Given the description of an element on the screen output the (x, y) to click on. 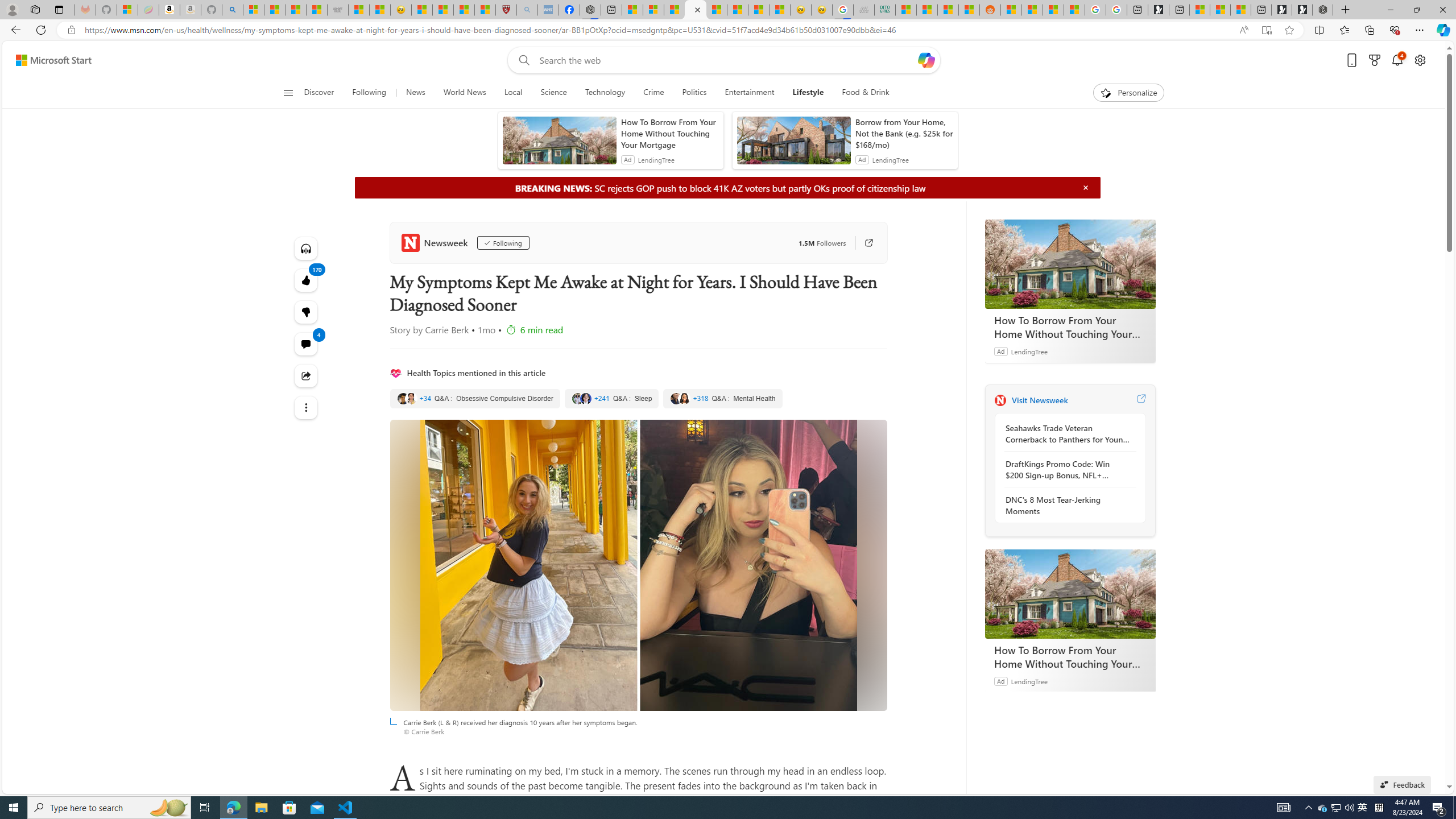
anim-content (793, 144)
